Given the description of an element on the screen output the (x, y) to click on. 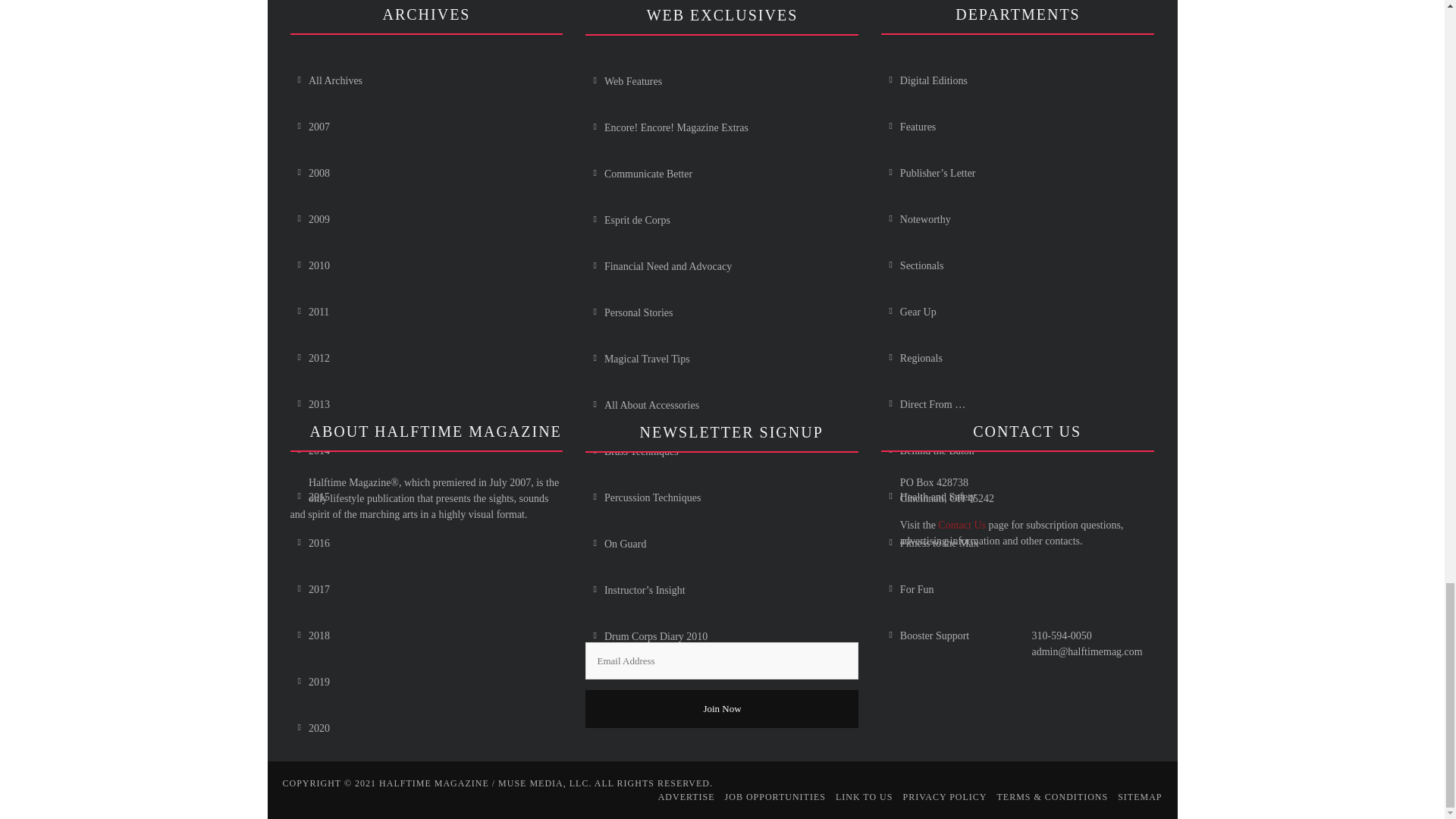
Join Now (722, 709)
